Given the description of an element on the screen output the (x, y) to click on. 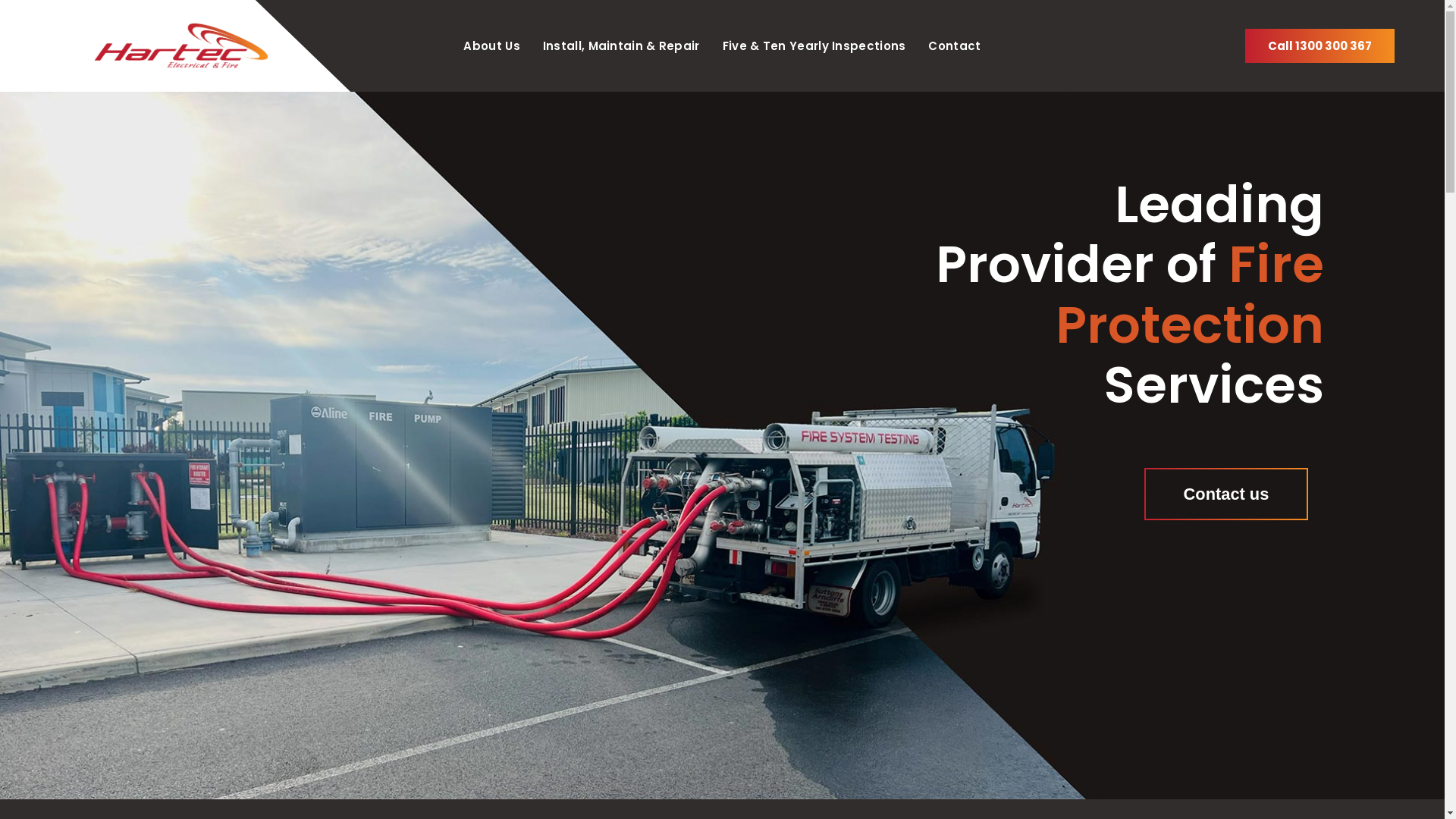
Call 1300 300 367 Element type: text (1319, 45)
Five & Ten Yearly Inspections Element type: text (814, 45)
Install, Maintain & Repair Element type: text (620, 45)
About Us Element type: text (491, 45)
Contact Element type: text (954, 45)
